Given the description of an element on the screen output the (x, y) to click on. 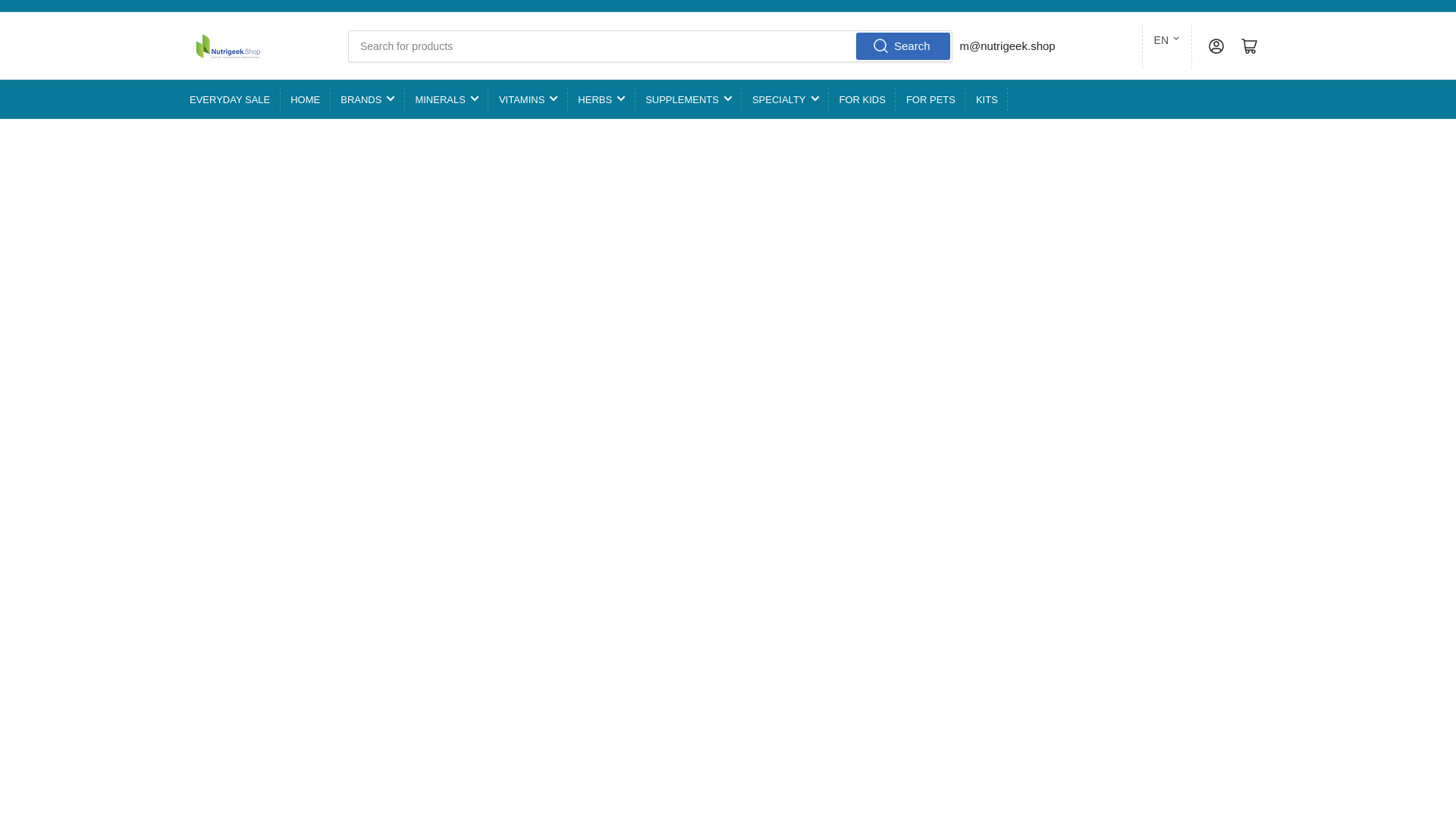
Search (903, 45)
Log in (1216, 45)
Open mini cart (1249, 45)
1 (831, 391)
